Given the description of an element on the screen output the (x, y) to click on. 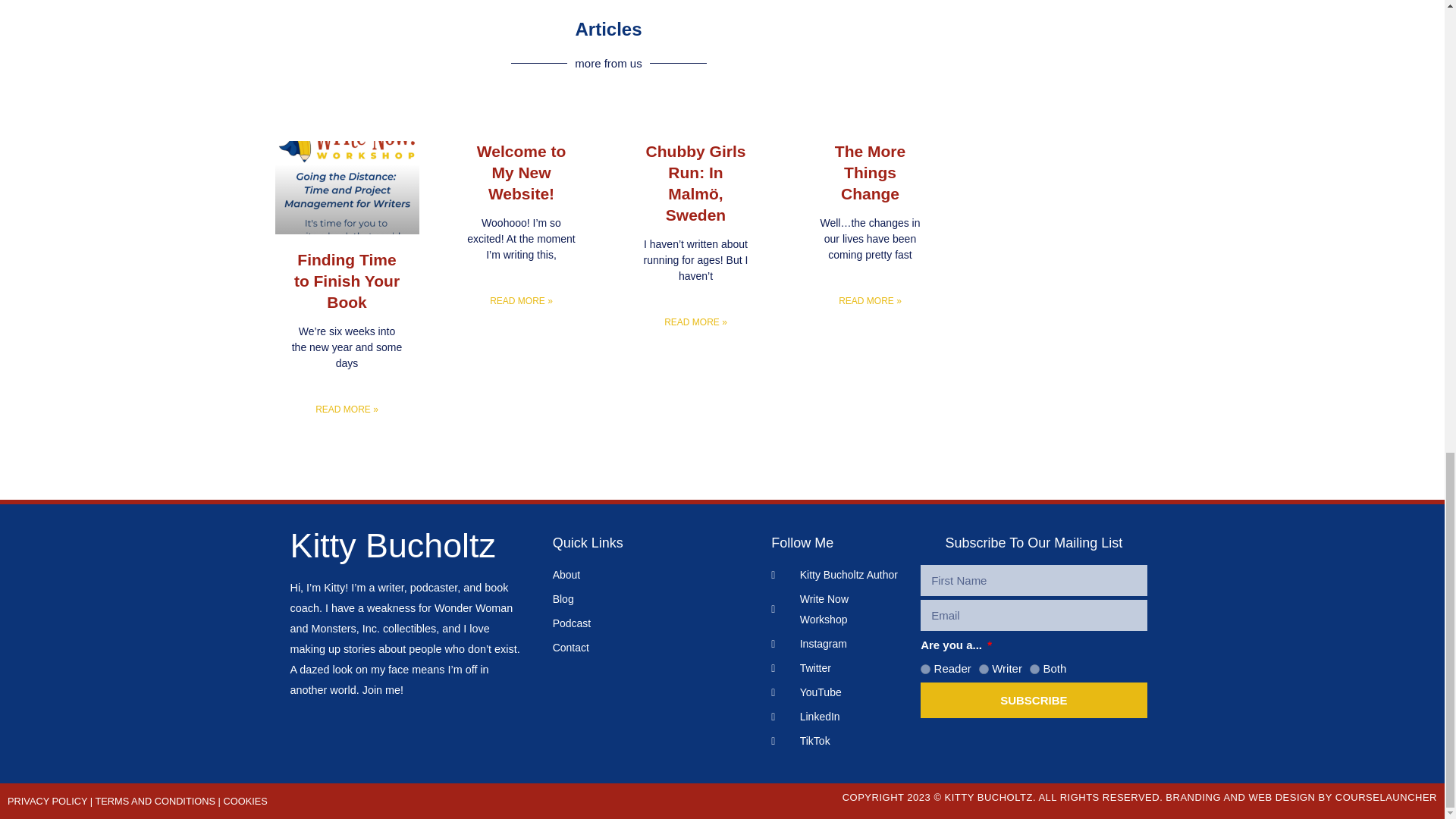
both (1034, 669)
Finding Time to Finish Your Book (346, 280)
writer (983, 669)
Welcome to My New Website! (521, 172)
The More Things Change (869, 172)
reader (925, 669)
